Given the description of an element on the screen output the (x, y) to click on. 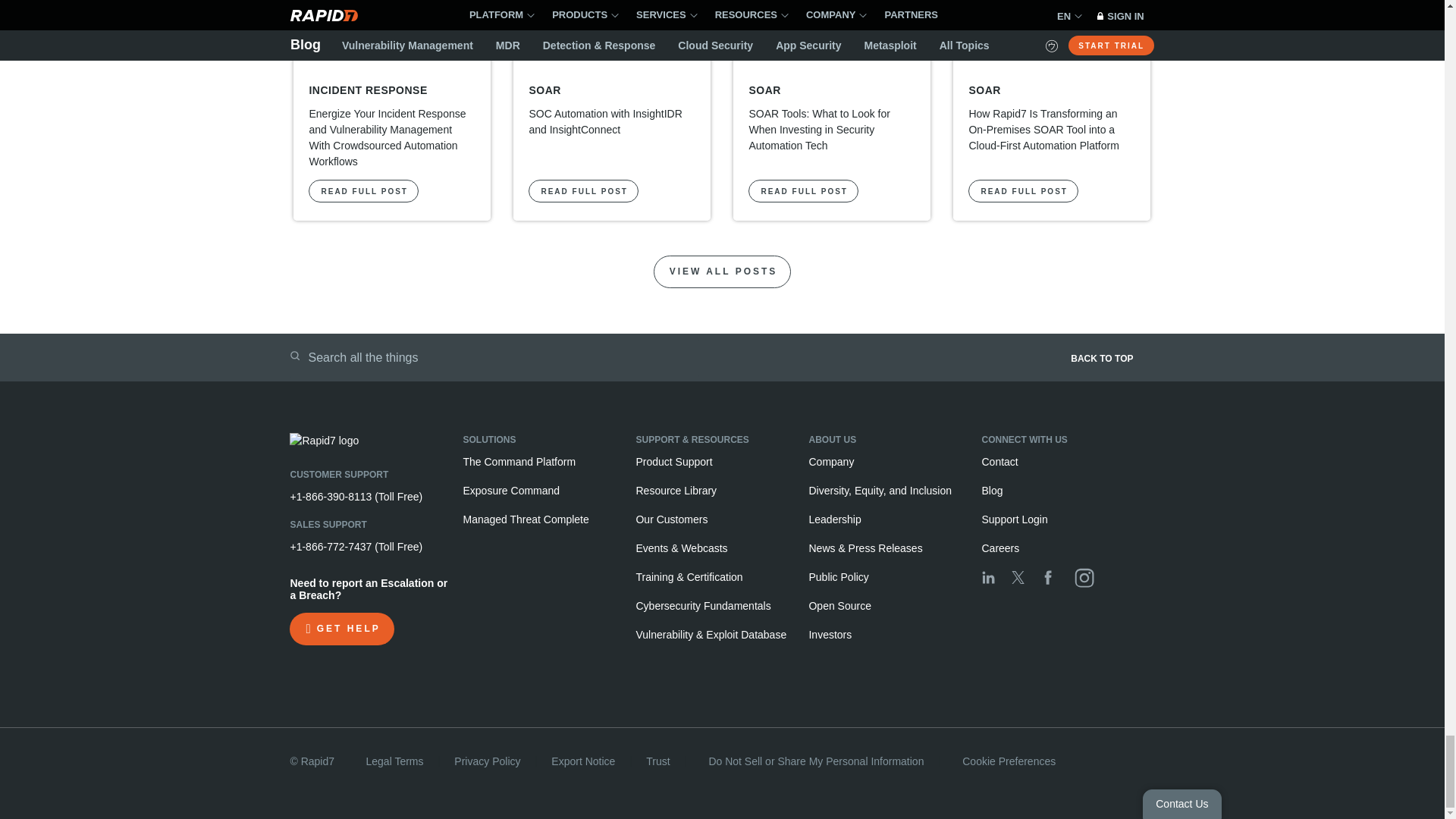
Submit Search (294, 355)
BACK TO TOP (949, 363)
Submit Search (294, 355)
